Given the description of an element on the screen output the (x, y) to click on. 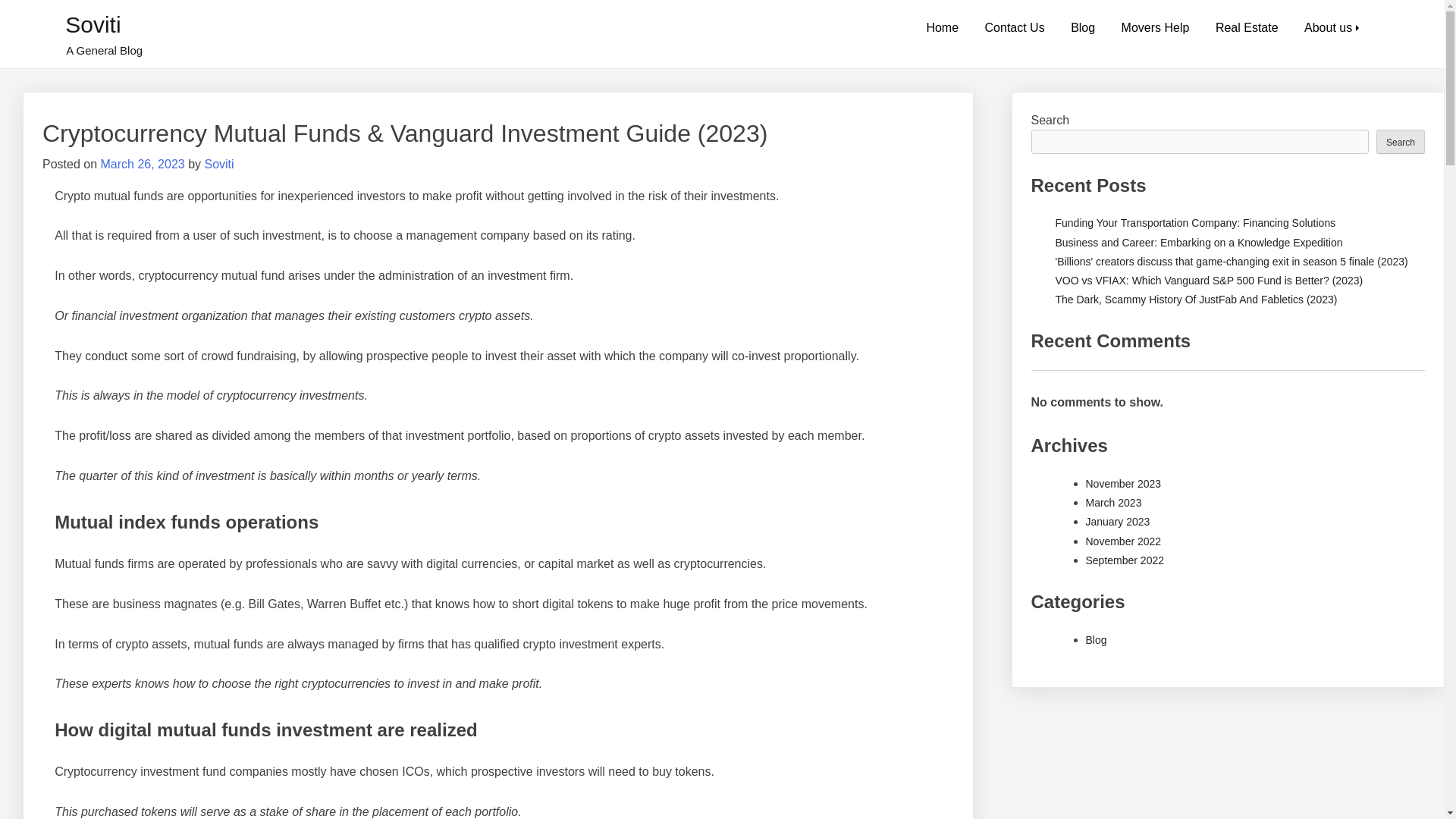
Real Estate (1247, 28)
Business and Career: Embarking on a Knowledge Expedition (1198, 242)
Contact Us (1015, 28)
November 2023 (1123, 483)
Blog (1082, 28)
Funding Your Transportation Company: Financing Solutions (1195, 223)
November 2022 (1123, 541)
Blog (1096, 639)
March 2023 (1113, 502)
Search (1400, 140)
